Given the description of an element on the screen output the (x, y) to click on. 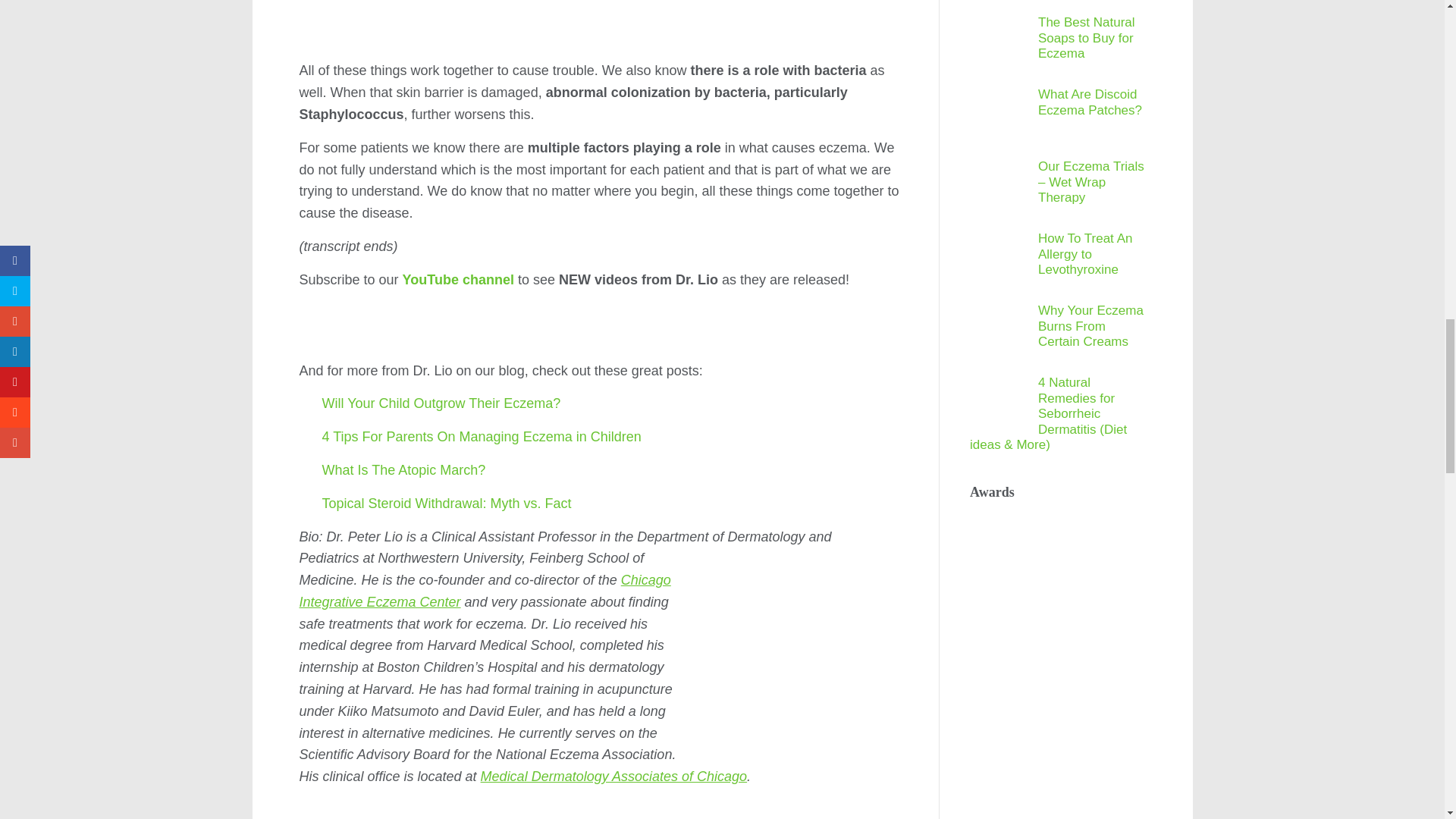
YouTube channel (458, 279)
Will Your Child Outgrow Their Eczema? (440, 403)
